Given the description of an element on the screen output the (x, y) to click on. 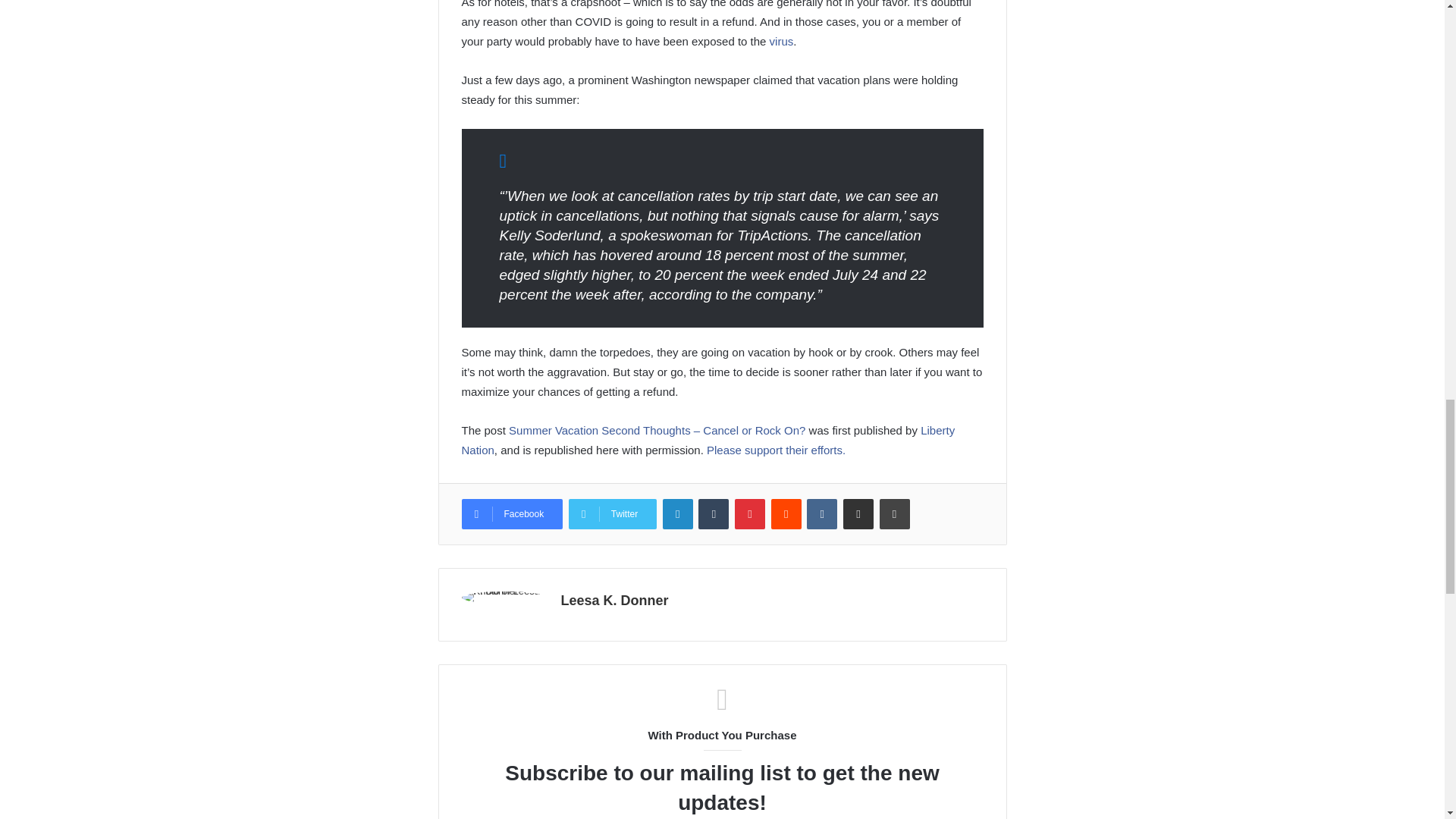
Pinterest (750, 513)
LinkedIn (677, 513)
Tumblr (713, 513)
Share via Email (858, 513)
Twitter (612, 513)
LinkedIn (677, 513)
VKontakte (821, 513)
Share via Email (858, 513)
Liberty Nation (708, 440)
VKontakte (821, 513)
